Given the description of an element on the screen output the (x, y) to click on. 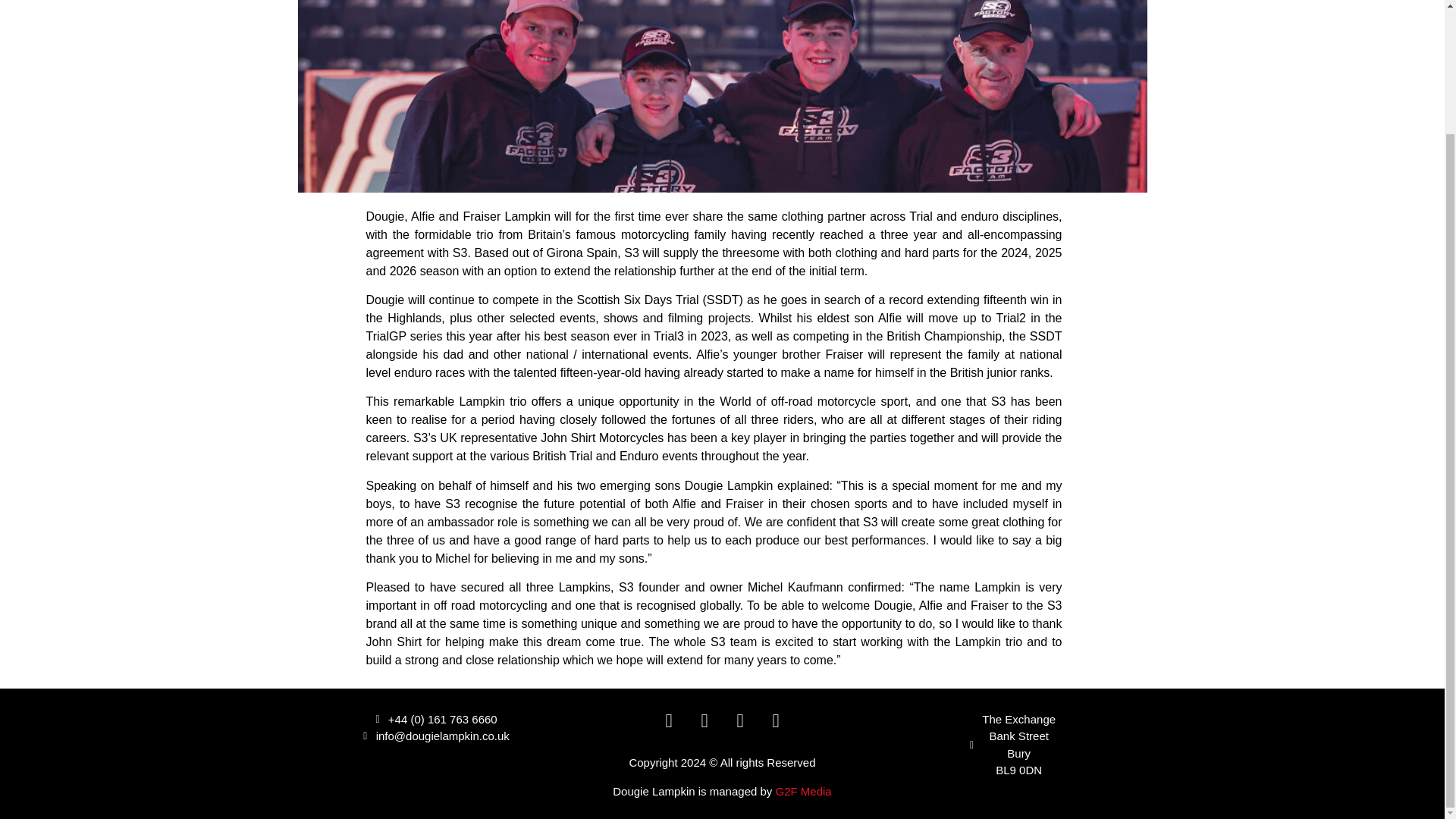
G2F Media (803, 790)
